Given the description of an element on the screen output the (x, y) to click on. 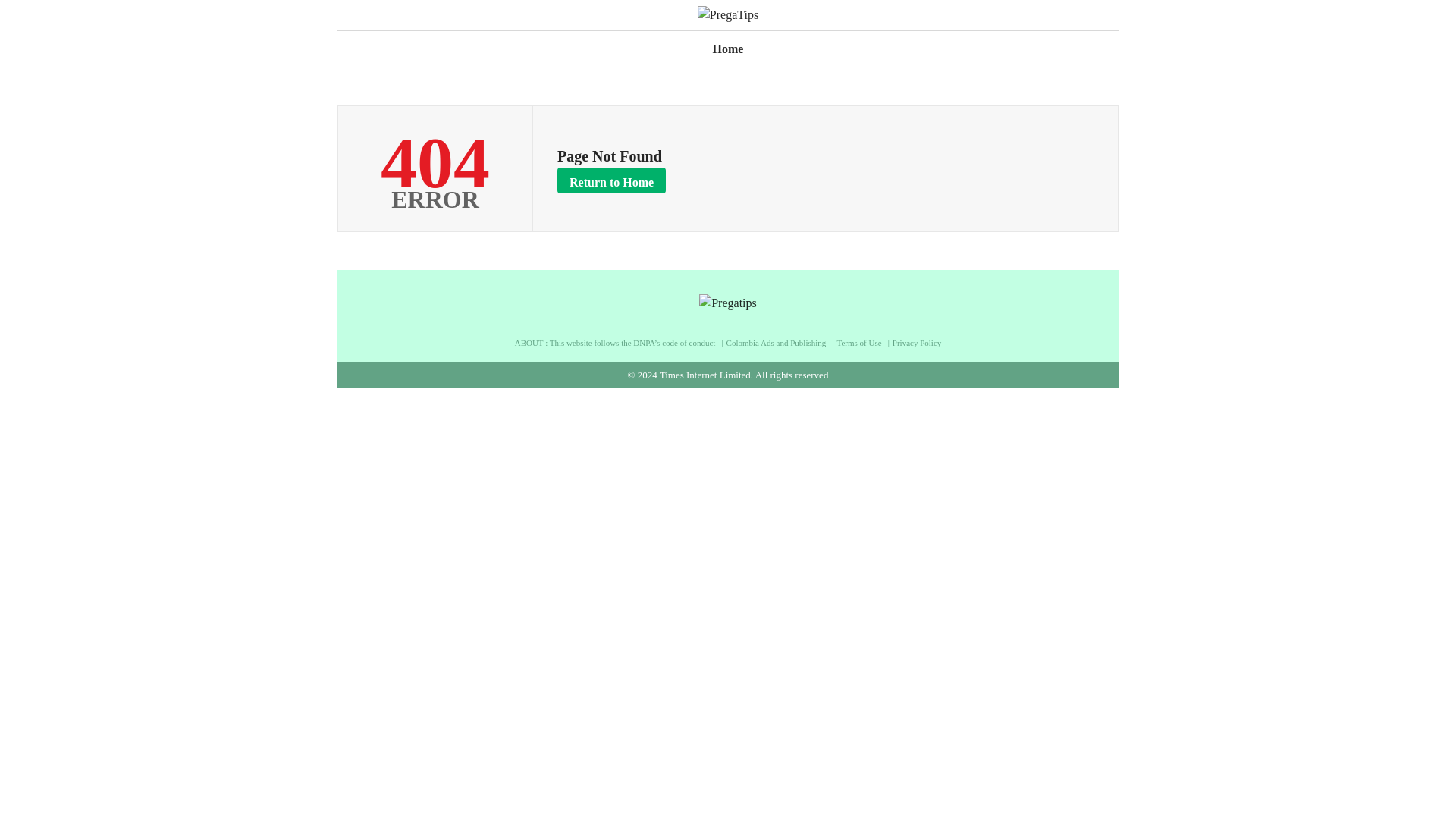
Terms of Use (863, 342)
Return to Home (611, 179)
Privacy Policy (916, 342)
Colombia Ads and Publishing (780, 342)
Home (728, 47)
